Given the description of an element on the screen output the (x, y) to click on. 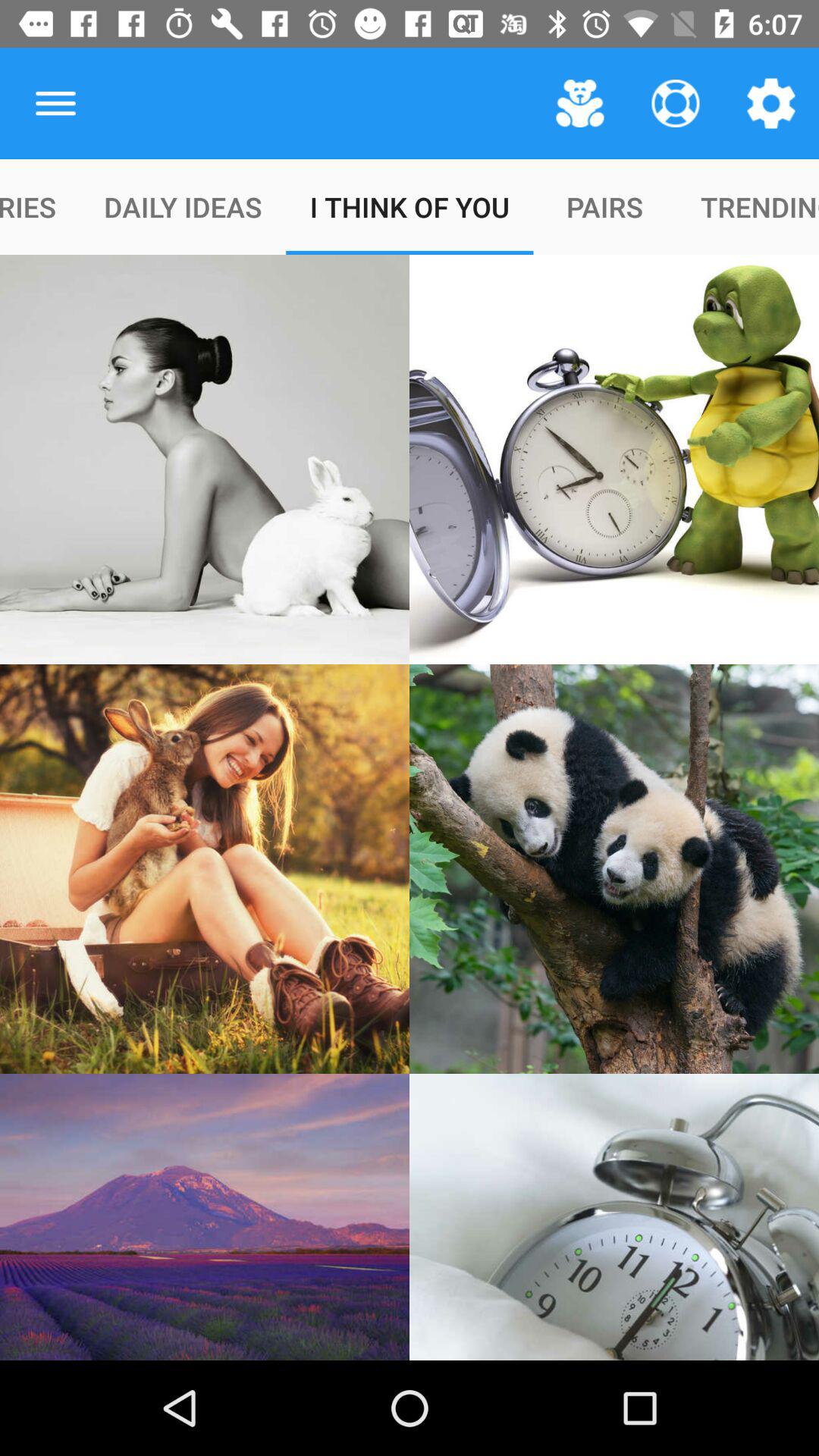
open the icon next to   icon (55, 103)
